Given the description of an element on the screen output the (x, y) to click on. 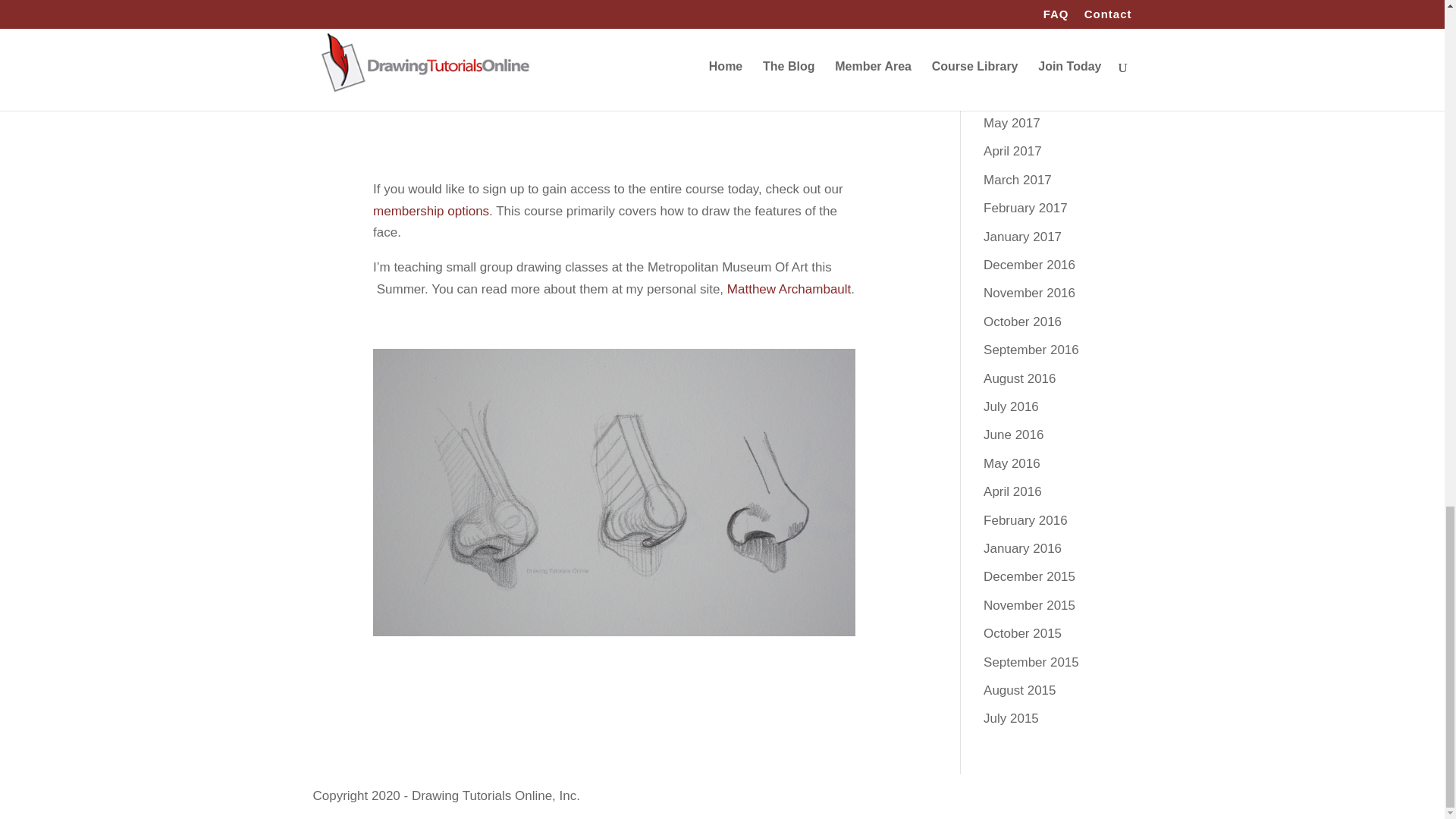
Matthew Archambault (788, 288)
membership options (430, 210)
How To Draw The Structure Of The Nose (614, 65)
